Given the description of an element on the screen output the (x, y) to click on. 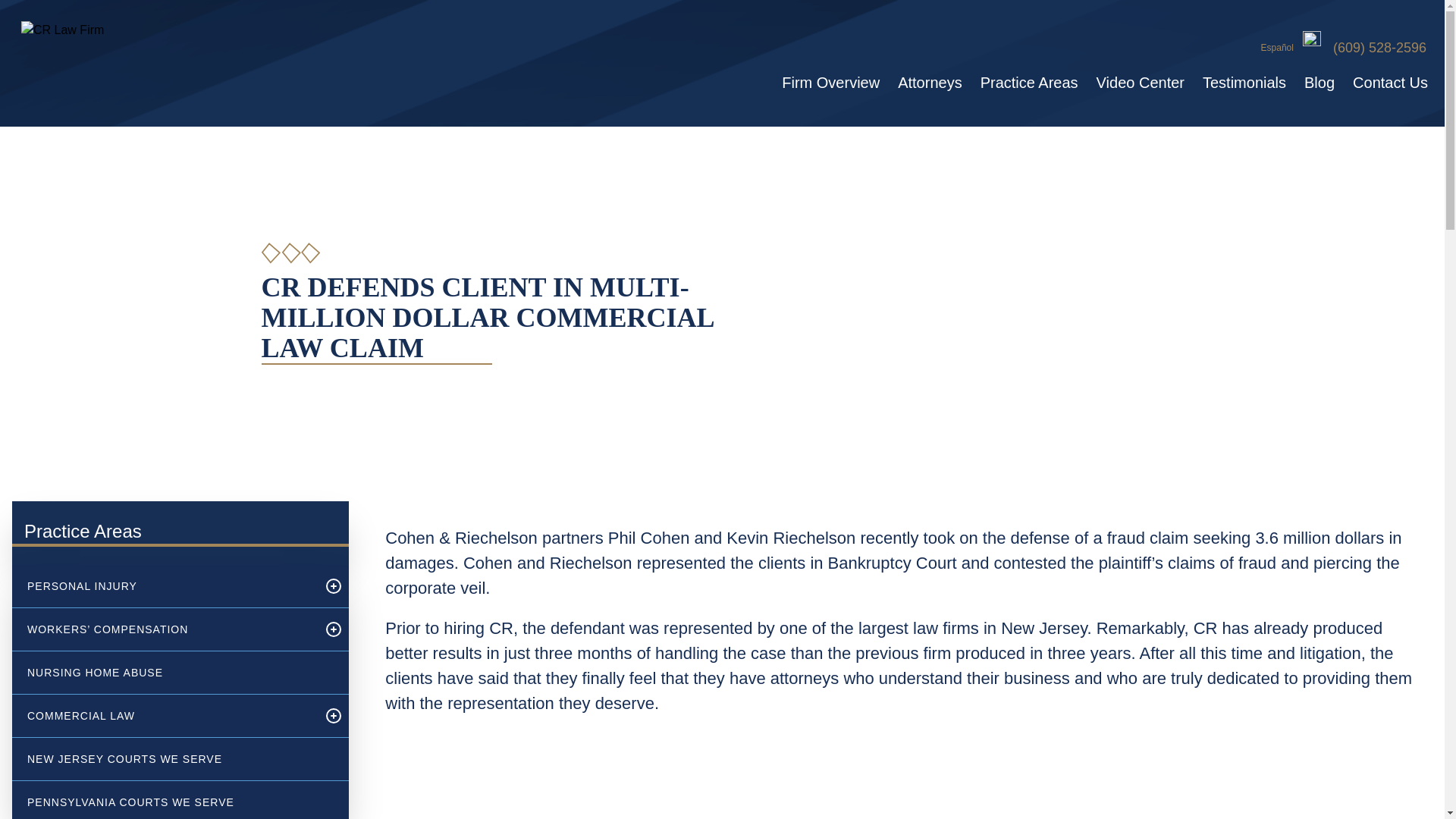
Firm Overview (830, 82)
PERSONAL INJURY (163, 586)
Attorneys (929, 82)
CR Law Firm (142, 63)
Practice Areas (1029, 82)
Contact Us (1385, 82)
Blog (1319, 82)
Video Center (1140, 82)
Testimonials (1244, 82)
